Given the description of an element on the screen output the (x, y) to click on. 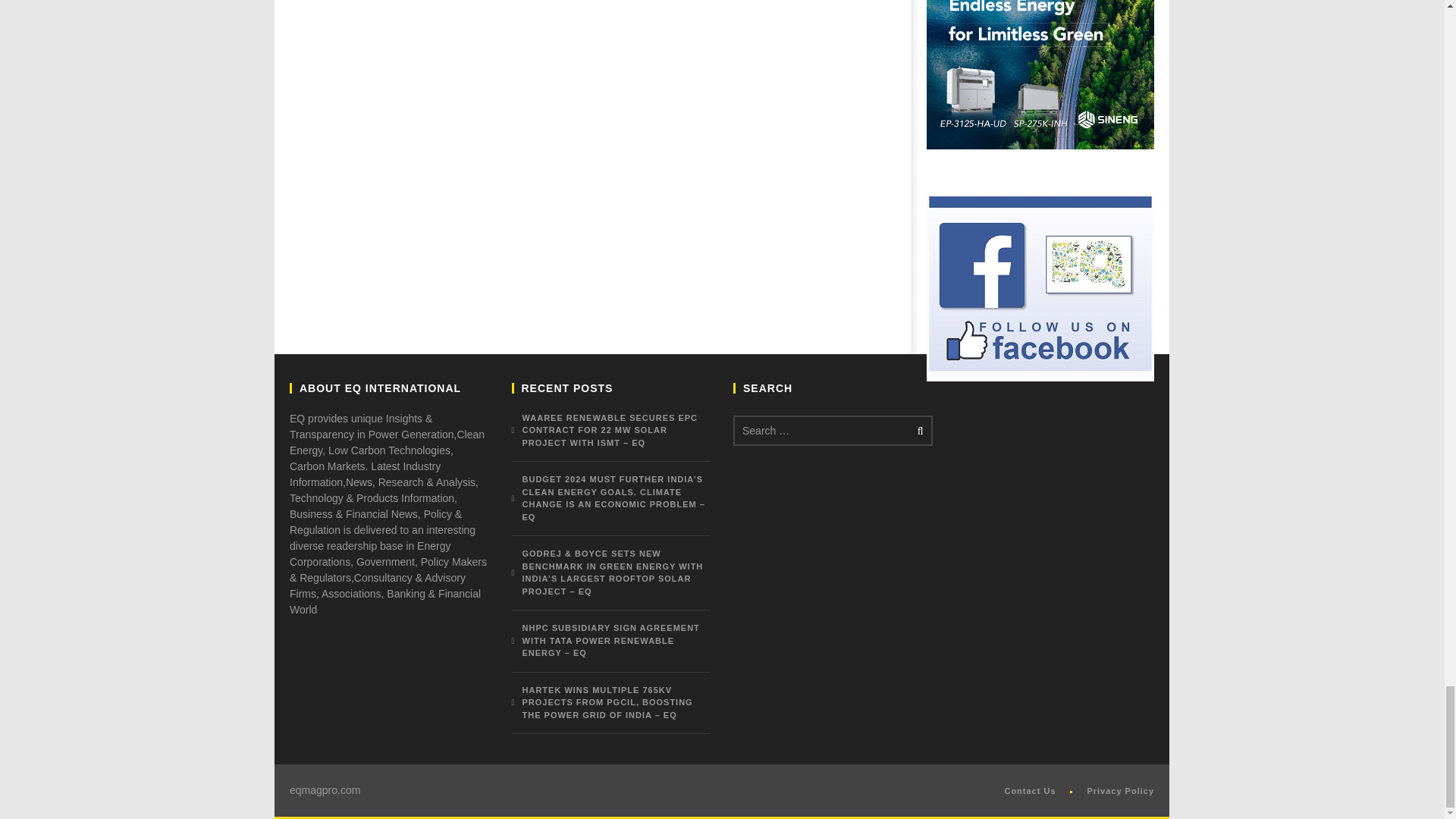
Search (917, 430)
Search (917, 430)
